Given the description of an element on the screen output the (x, y) to click on. 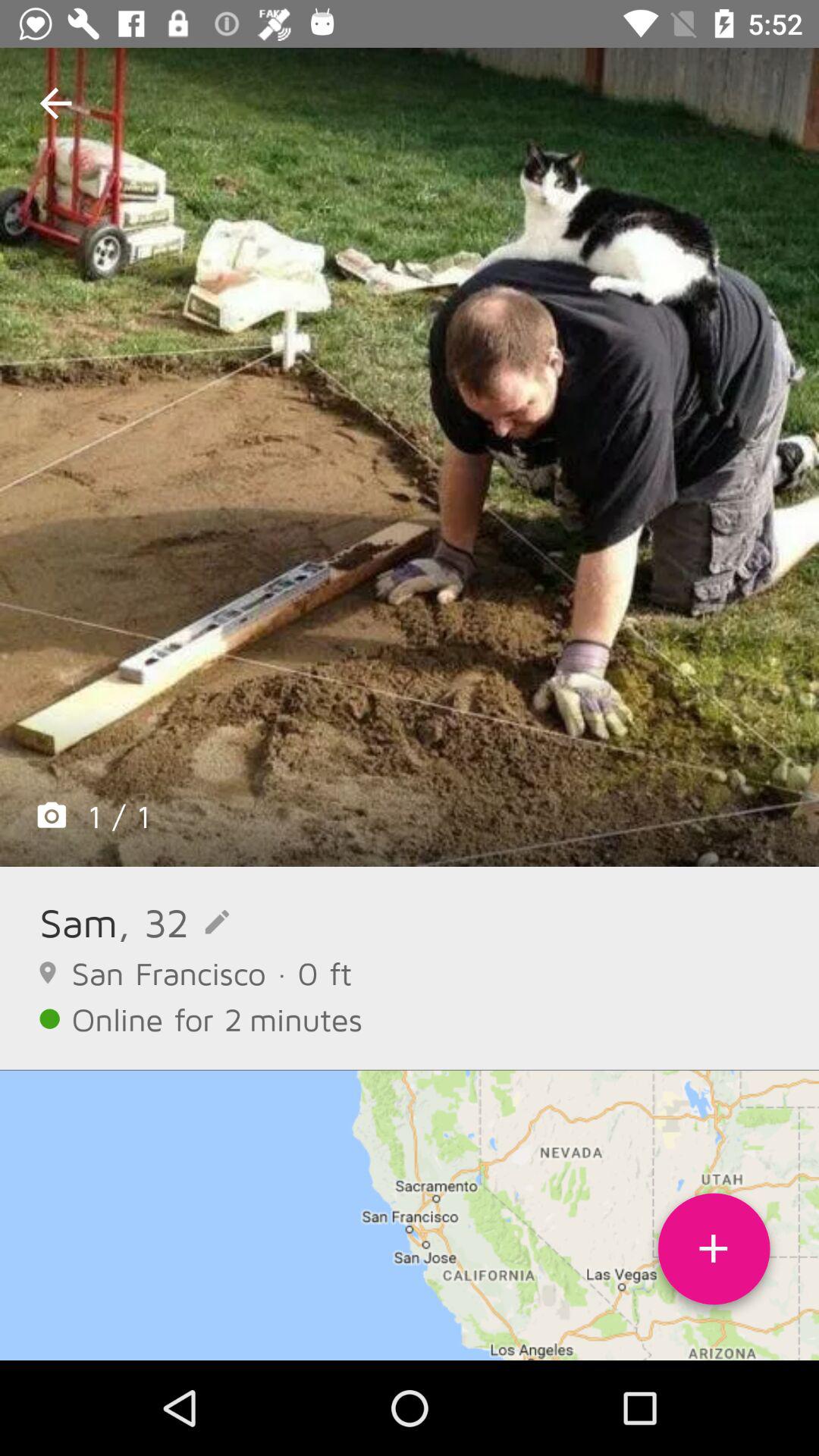
zoom in (409, 456)
